Given the description of an element on the screen output the (x, y) to click on. 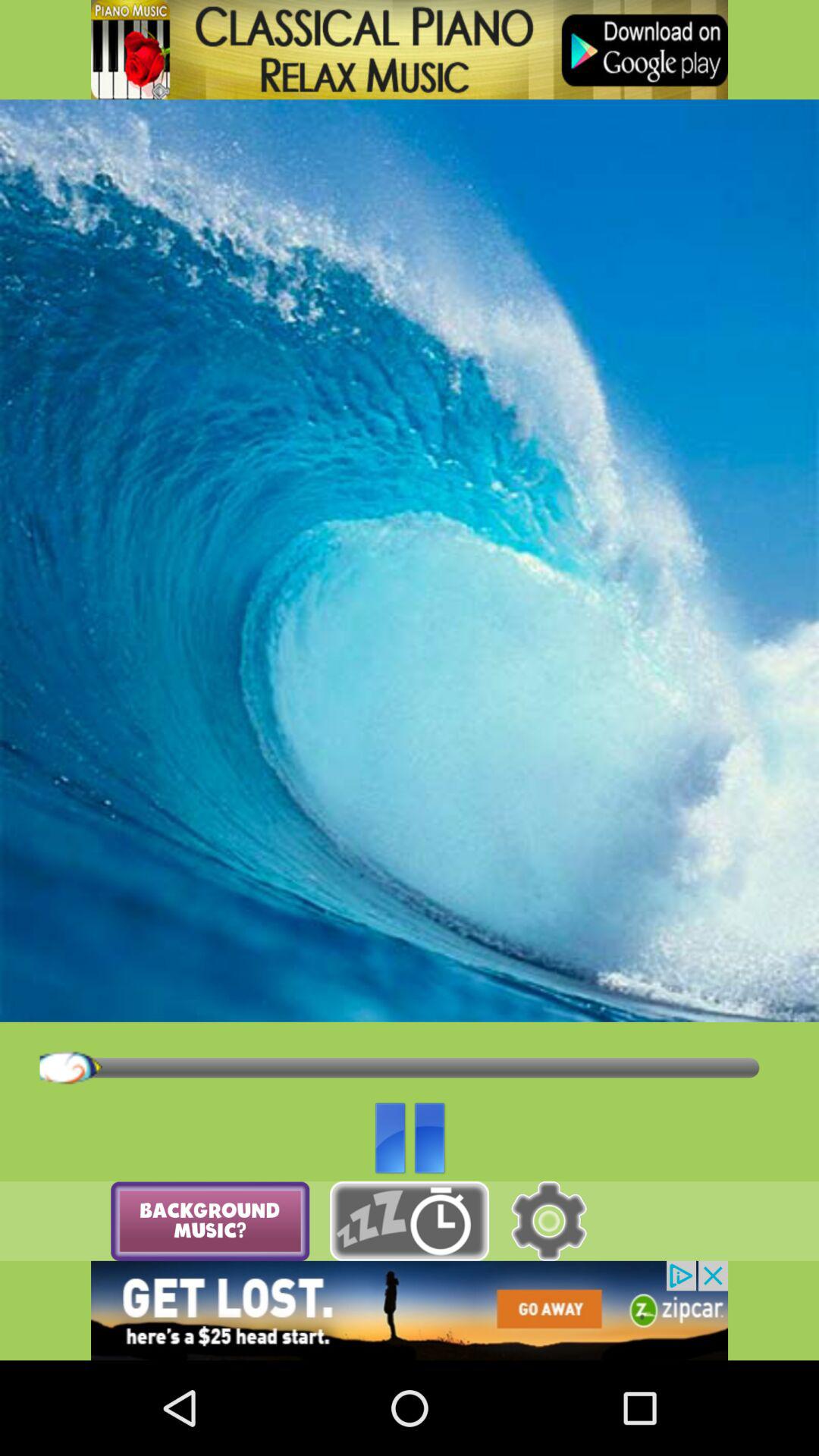
check/change settings (548, 1220)
